Given the description of an element on the screen output the (x, y) to click on. 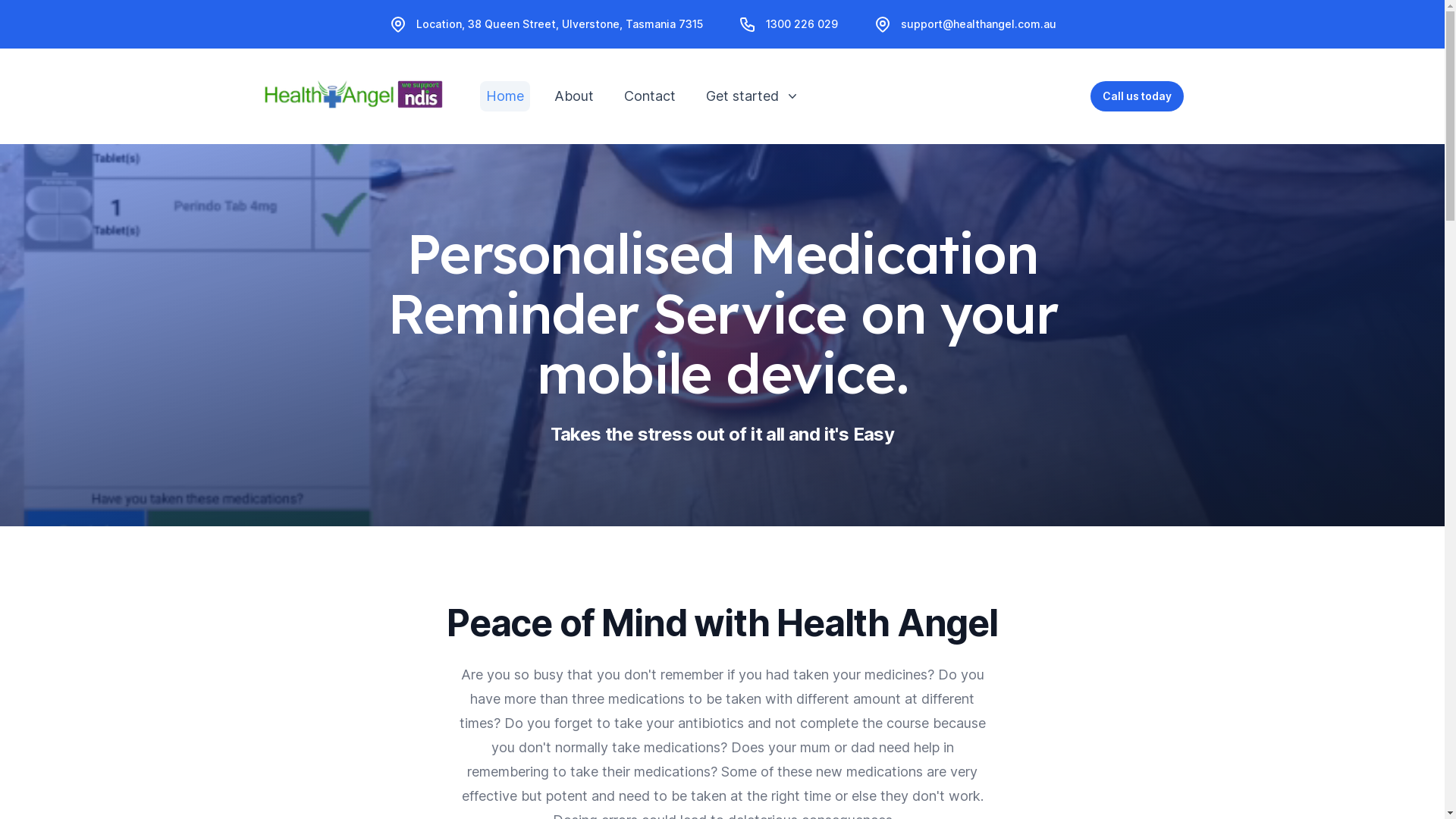
Call us today Element type: text (1136, 96)
Contact Element type: text (648, 96)
Get started Element type: text (750, 96)
Home Element type: text (504, 96)
support@healthangel.com.au Element type: text (978, 23)
1300 226 029 Element type: text (801, 23)
About Element type: text (573, 96)
